Given the description of an element on the screen output the (x, y) to click on. 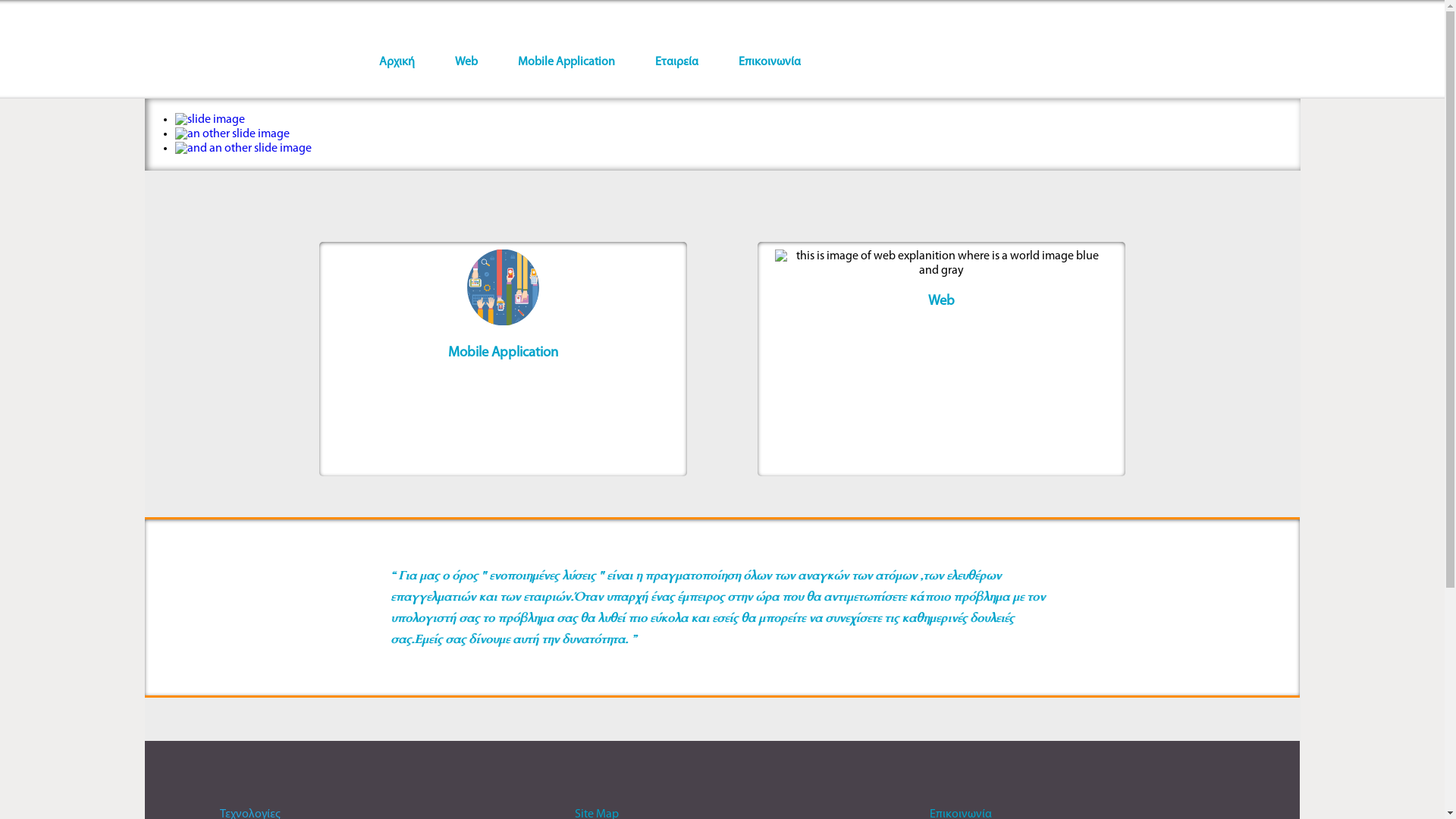
Mobile Application Element type: text (566, 61)
Web Element type: text (466, 61)
